Given the description of an element on the screen output the (x, y) to click on. 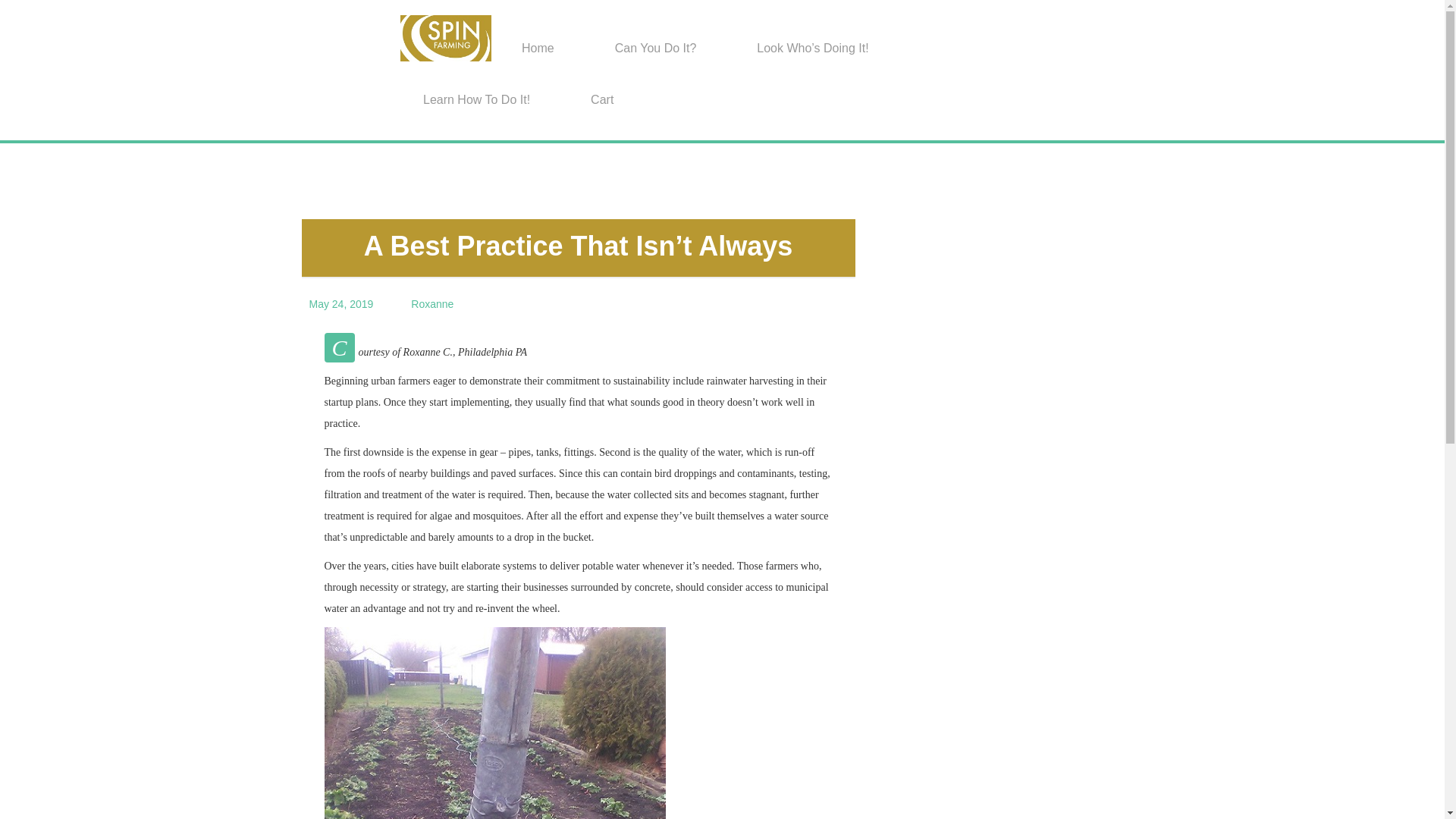
Home (537, 48)
Learn How To Do It! (475, 99)
Roxanne (431, 304)
Cart (602, 99)
May 24, 2019 (341, 304)
Search (15, 6)
Can You Do It? (655, 48)
